Given the description of an element on the screen output the (x, y) to click on. 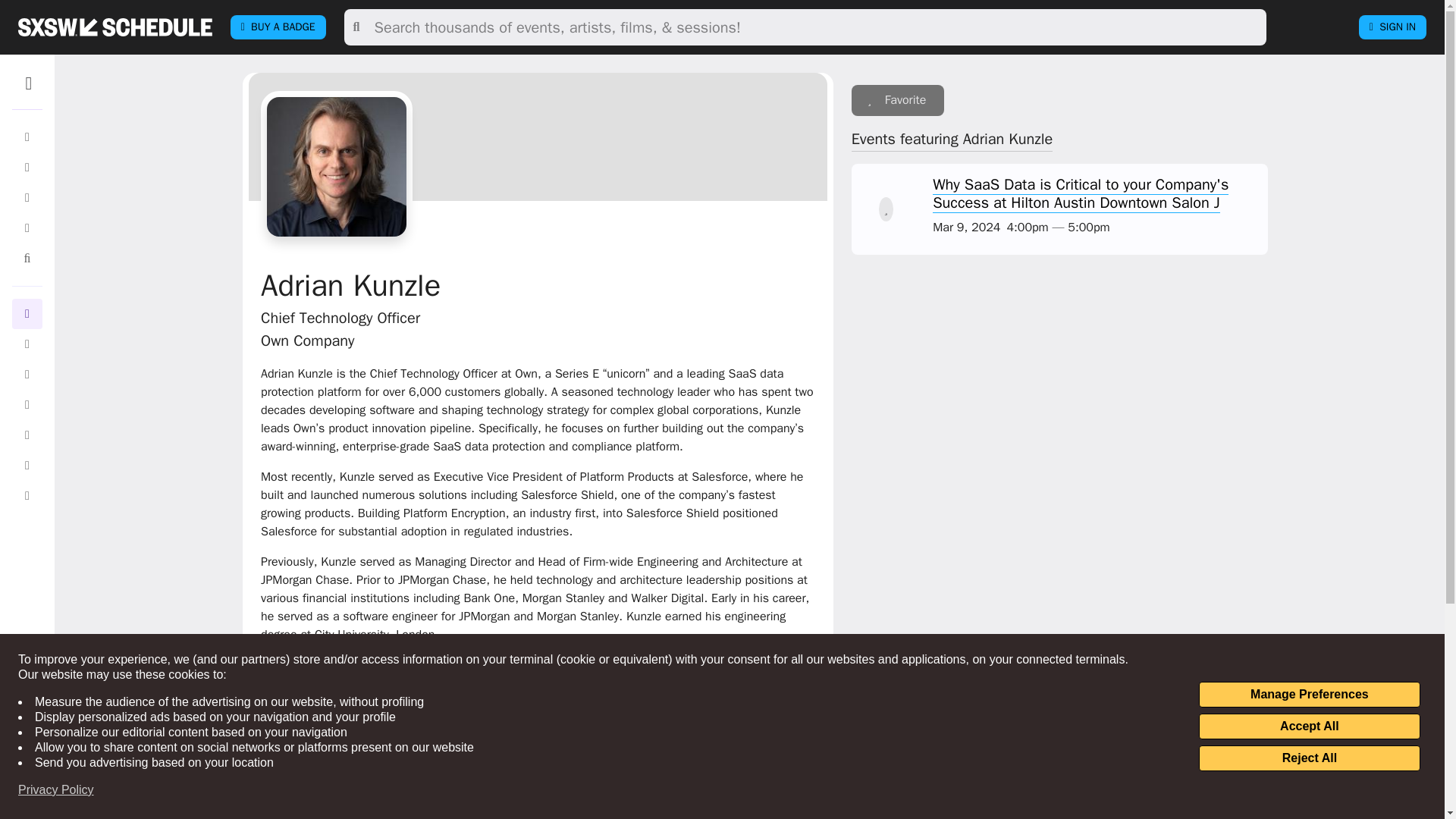
Privacy Policy (55, 789)
Sign In to add to your favorites. (886, 209)
Accept All (1309, 726)
Manage Preferences (1309, 694)
Sign In to add to your favorites. (897, 100)
sxsw SCHEDULE (114, 27)
BUY A BADGE (278, 27)
SIGN IN (1392, 27)
Reject All (1309, 758)
